Given the description of an element on the screen output the (x, y) to click on. 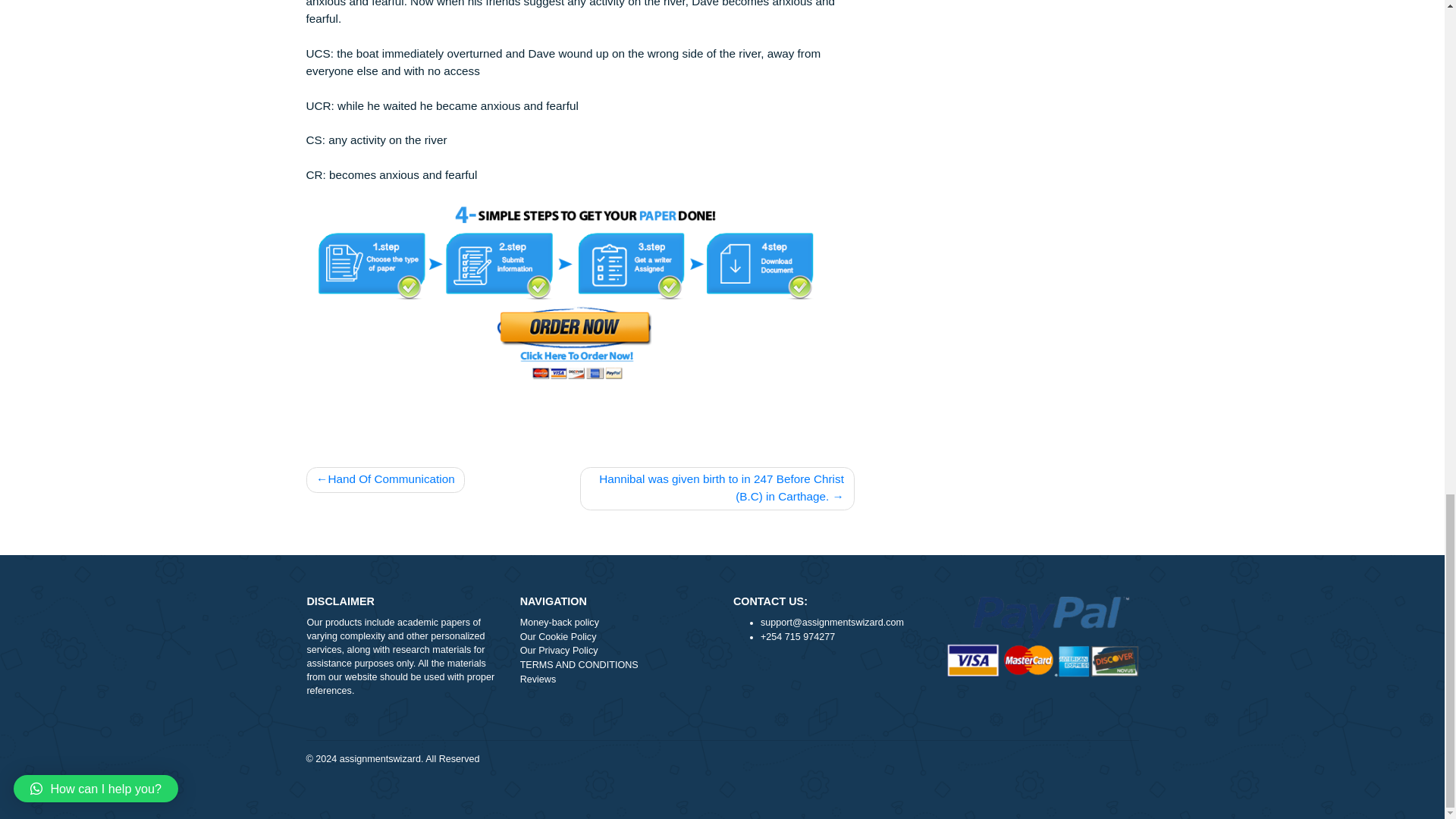
Hand Of Communication (427, 673)
